Given the description of an element on the screen output the (x, y) to click on. 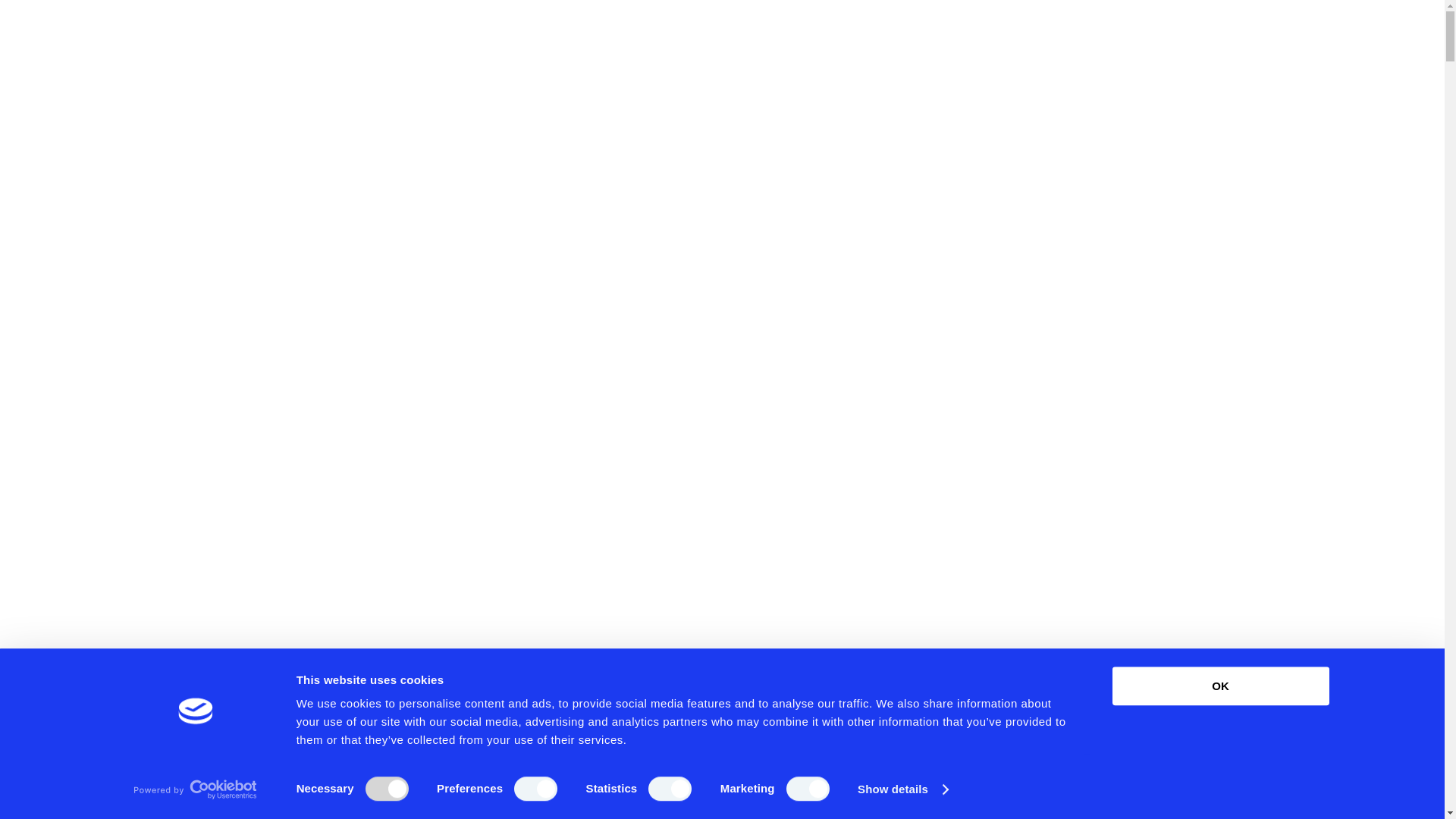
Show details (902, 789)
